Given the description of an element on the screen output the (x, y) to click on. 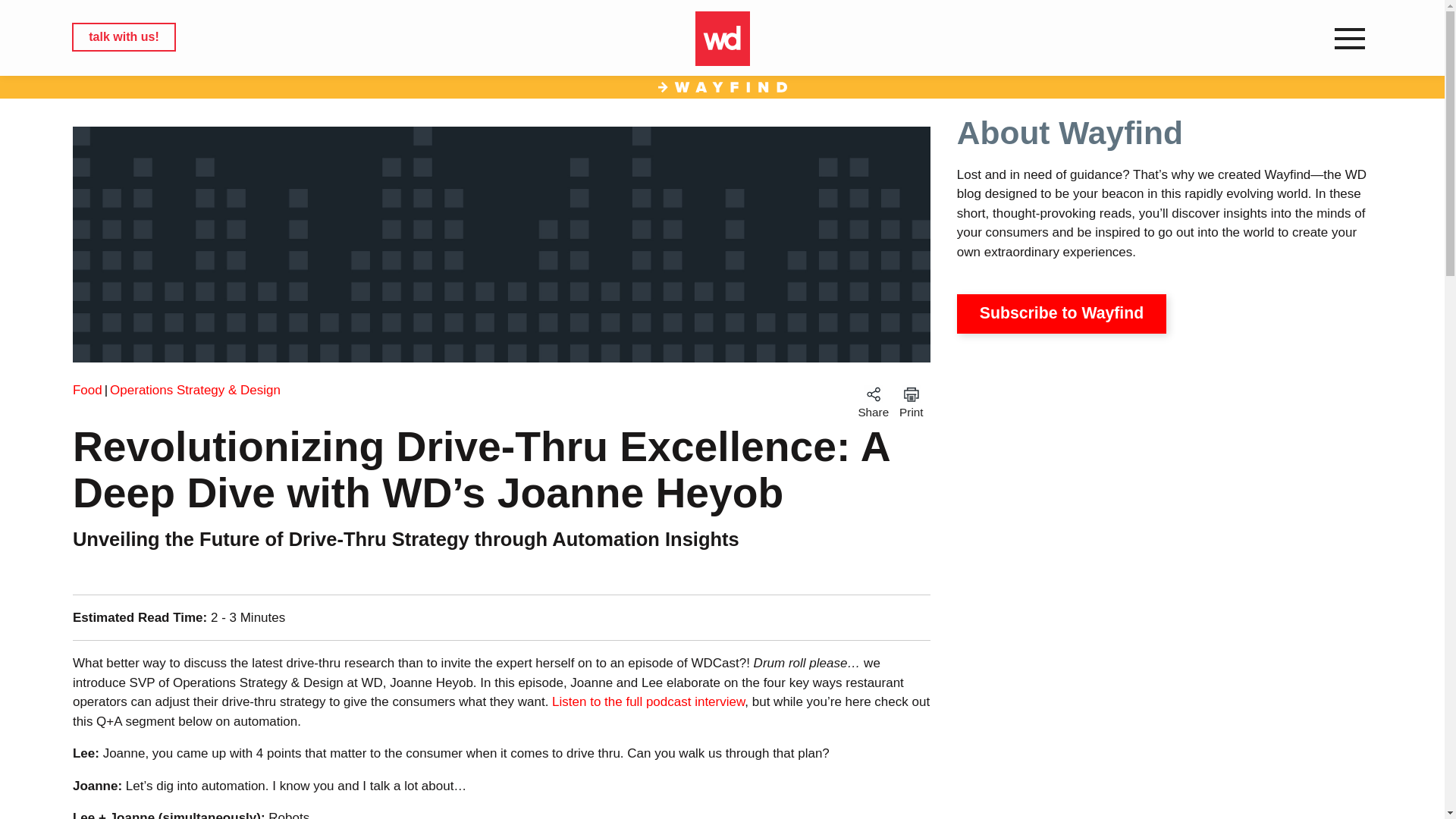
talk with us! (122, 36)
Wayfind Thought Leadership from WD Partners (722, 88)
Food (91, 390)
Subscribe to Wayfind (1061, 313)
Listen to the full podcast interview (647, 701)
Talk With WD (122, 36)
